Given the description of an element on the screen output the (x, y) to click on. 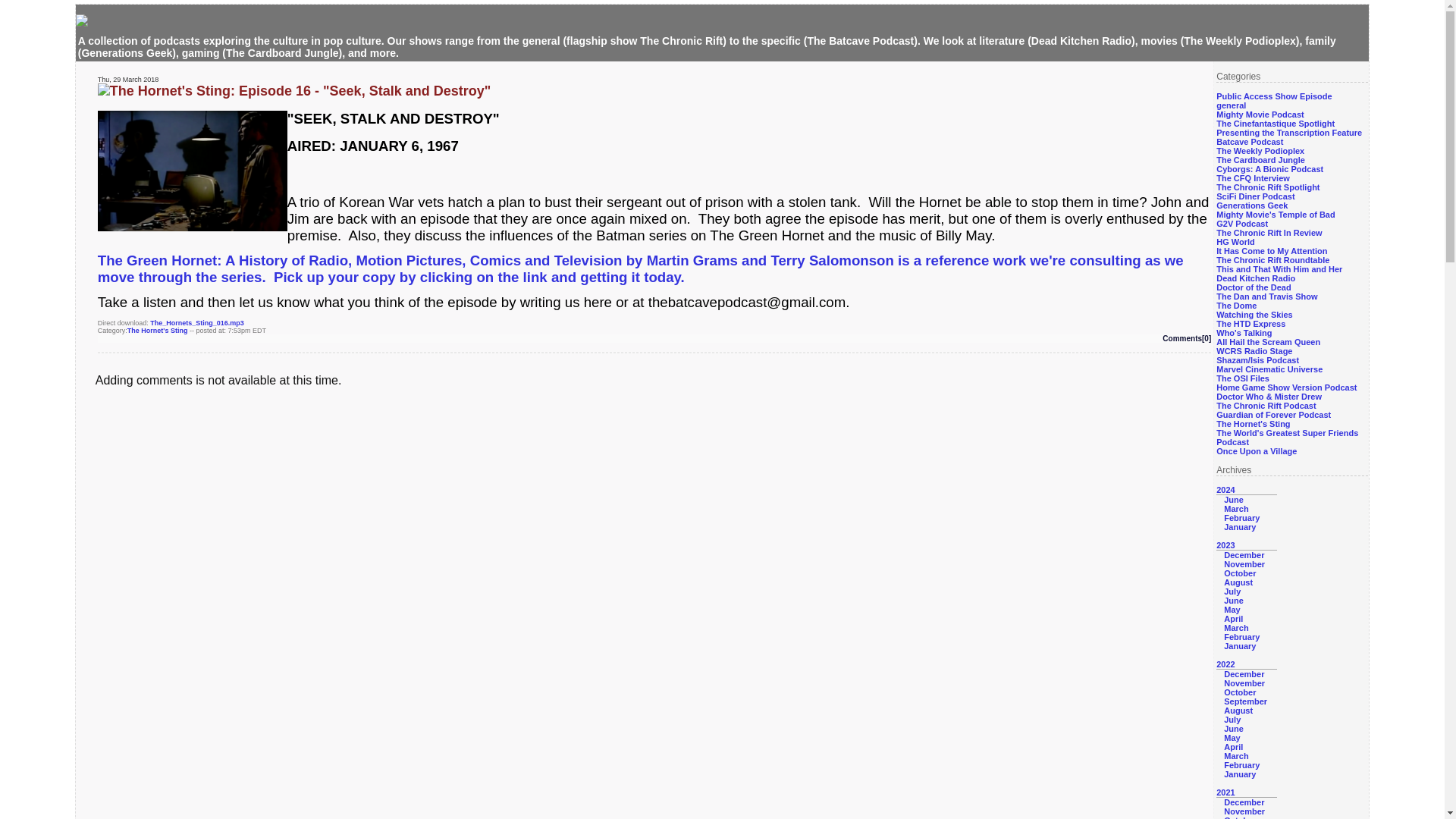
The Cardboard Jungle (1259, 159)
The Chronic Rift Roundtable (1272, 259)
The OSI Files (1242, 378)
Once Upon a Village (1256, 450)
All Hail the Scream Queen (1267, 341)
The Chronic Rift Spotlight (1267, 186)
Public Access Show Episode (1273, 95)
Watching the Skies (1253, 314)
Presenting the Transcription Feature (1288, 132)
The HTD Express (1250, 323)
The Weekly Podioplex (1259, 150)
The Cinefantastique Spotlight (1275, 122)
Guardian of Forever Podcast (1272, 414)
Mighty Movie Podcast (1259, 113)
Doctor of the Dead (1252, 286)
